Given the description of an element on the screen output the (x, y) to click on. 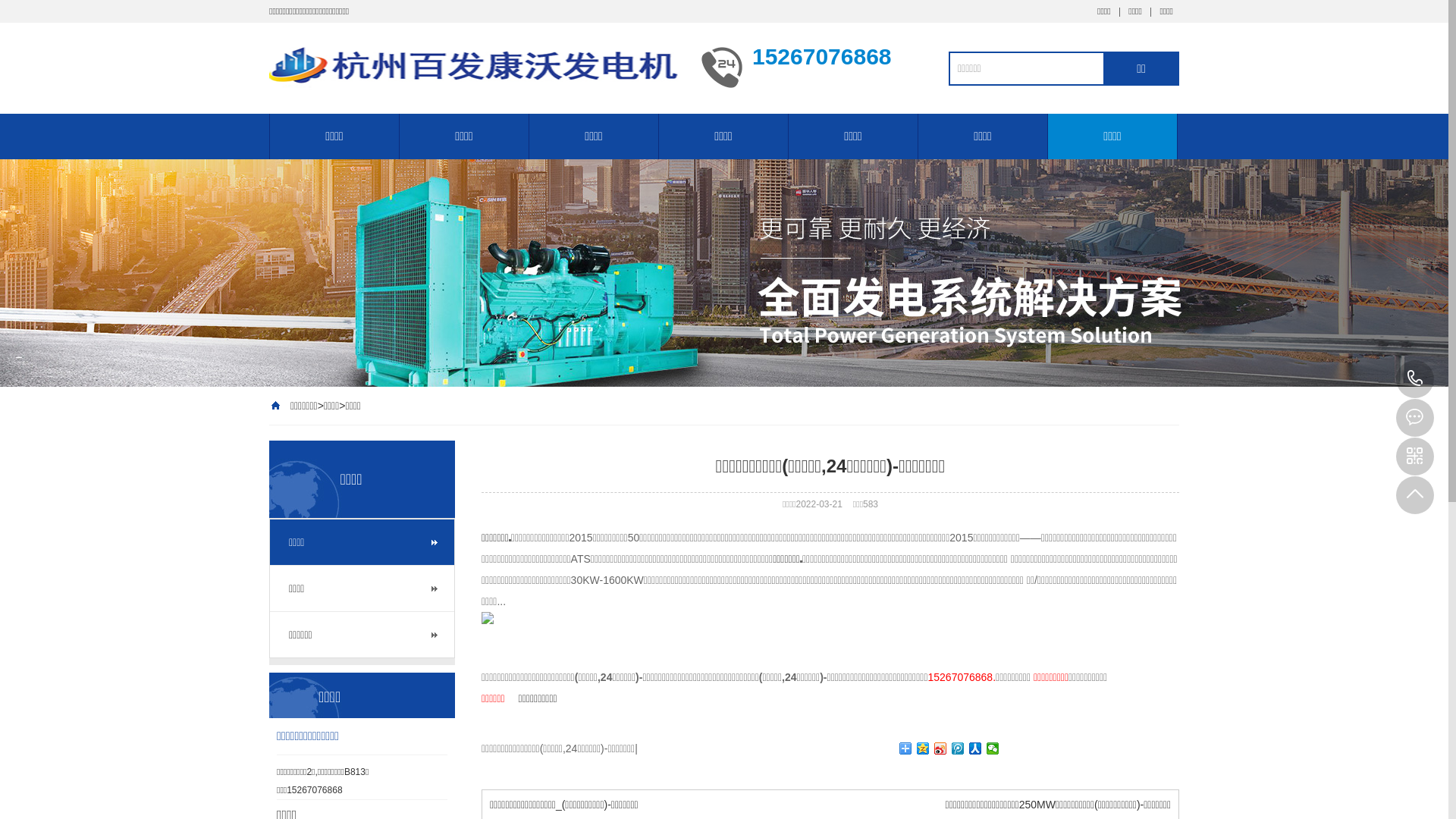
15267076868 Element type: text (1415, 379)
